Given the description of an element on the screen output the (x, y) to click on. 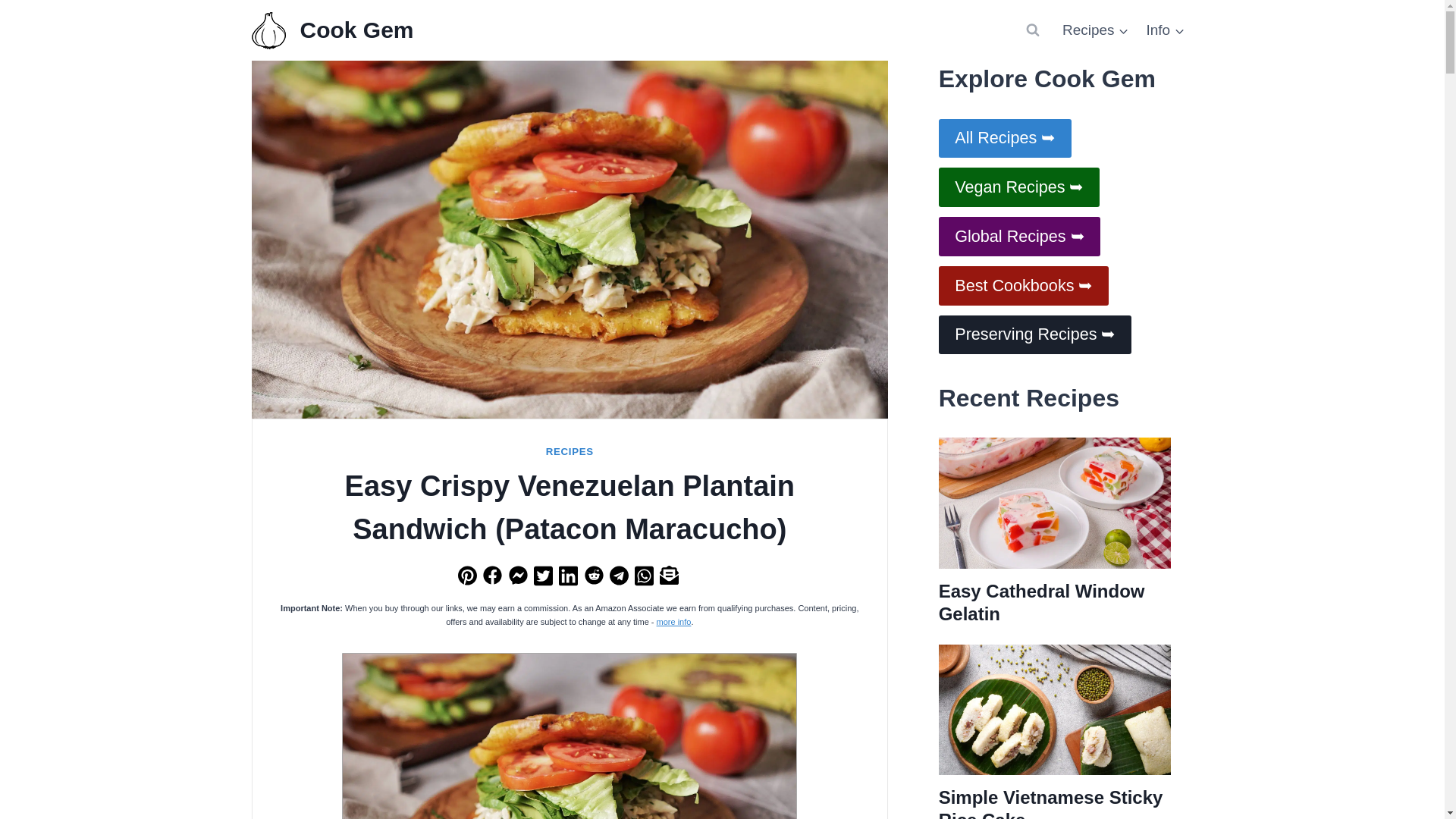
Cook Gem (332, 30)
Recipes (1095, 29)
more info (673, 621)
Info (1164, 29)
RECIPES (570, 451)
